Given the description of an element on the screen output the (x, y) to click on. 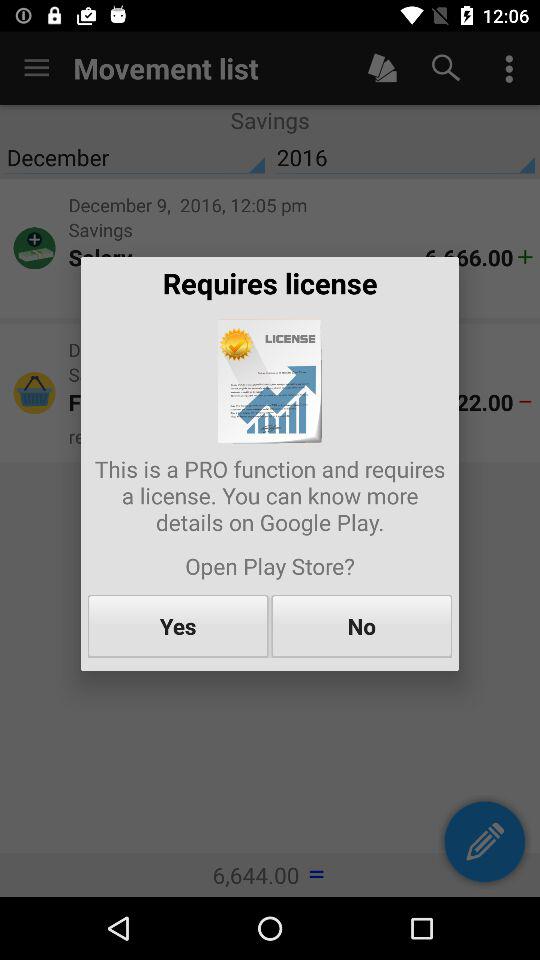
open the no on the right (361, 625)
